Given the description of an element on the screen output the (x, y) to click on. 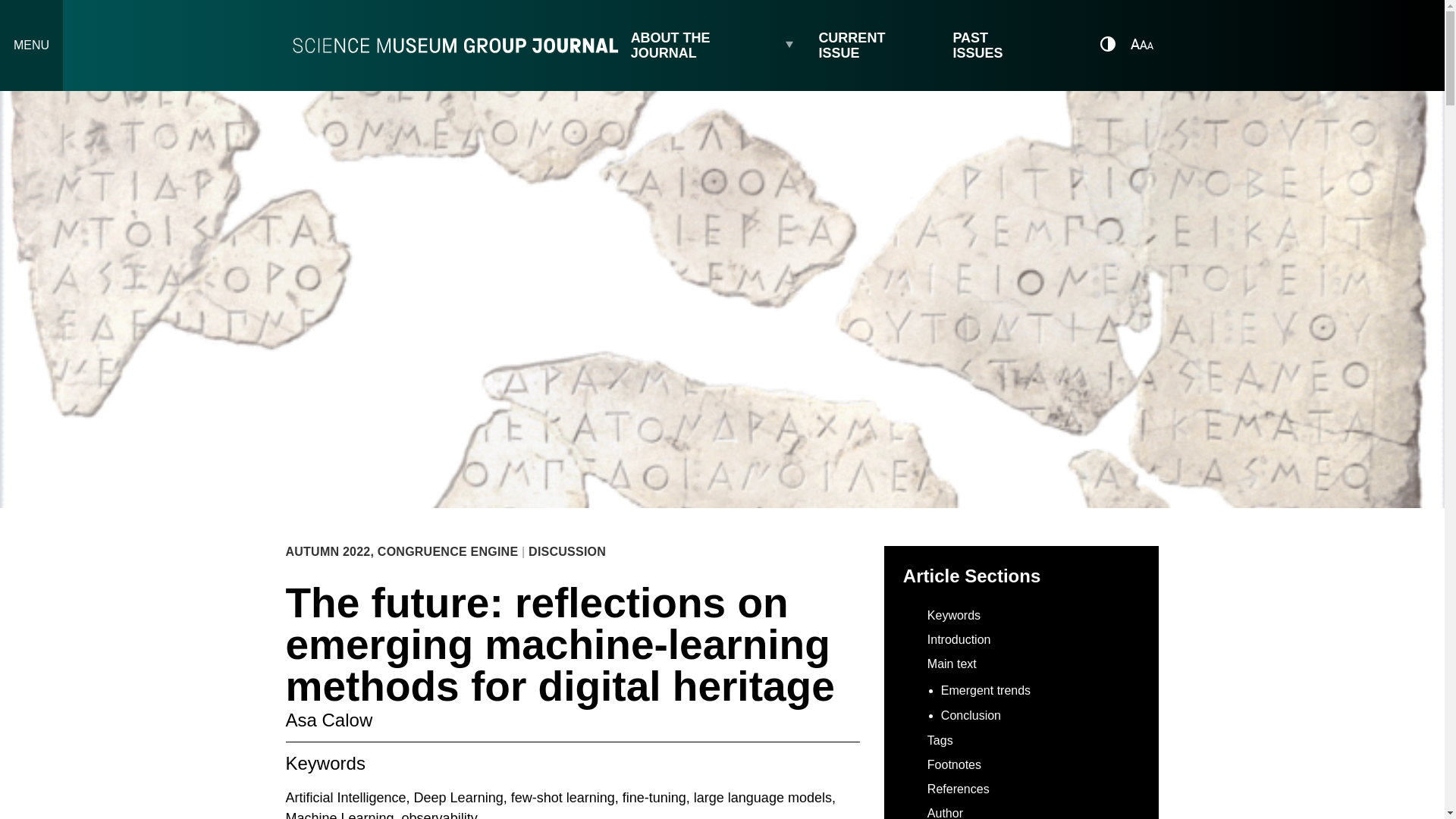
CURRENT ISSUE (873, 45)
OPEN SEARCH (1071, 44)
PAST ISSUES (996, 45)
ABOUT THE JOURNAL (704, 45)
OPEN SEARCH (1071, 43)
Expand child menu (795, 45)
